Given the description of an element on the screen output the (x, y) to click on. 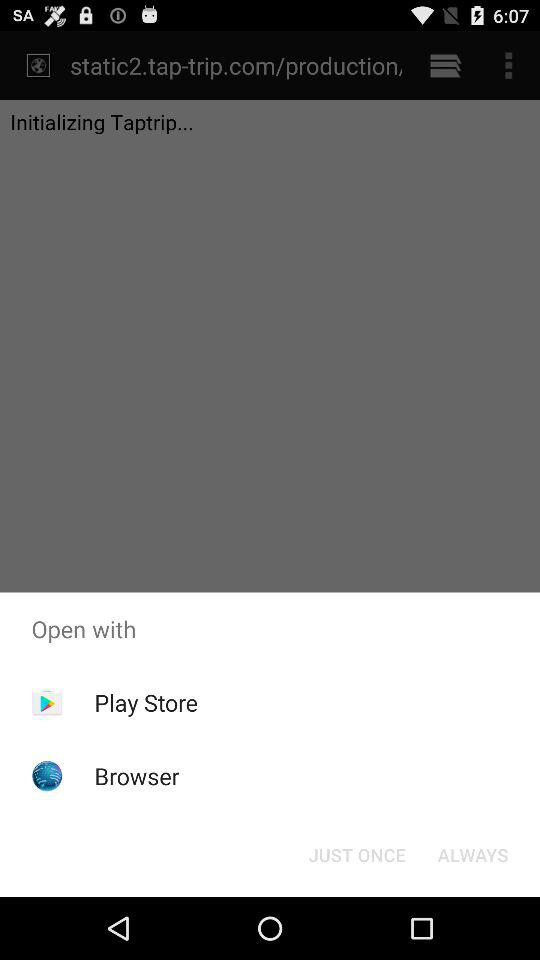
swipe until the always (472, 854)
